Given the description of an element on the screen output the (x, y) to click on. 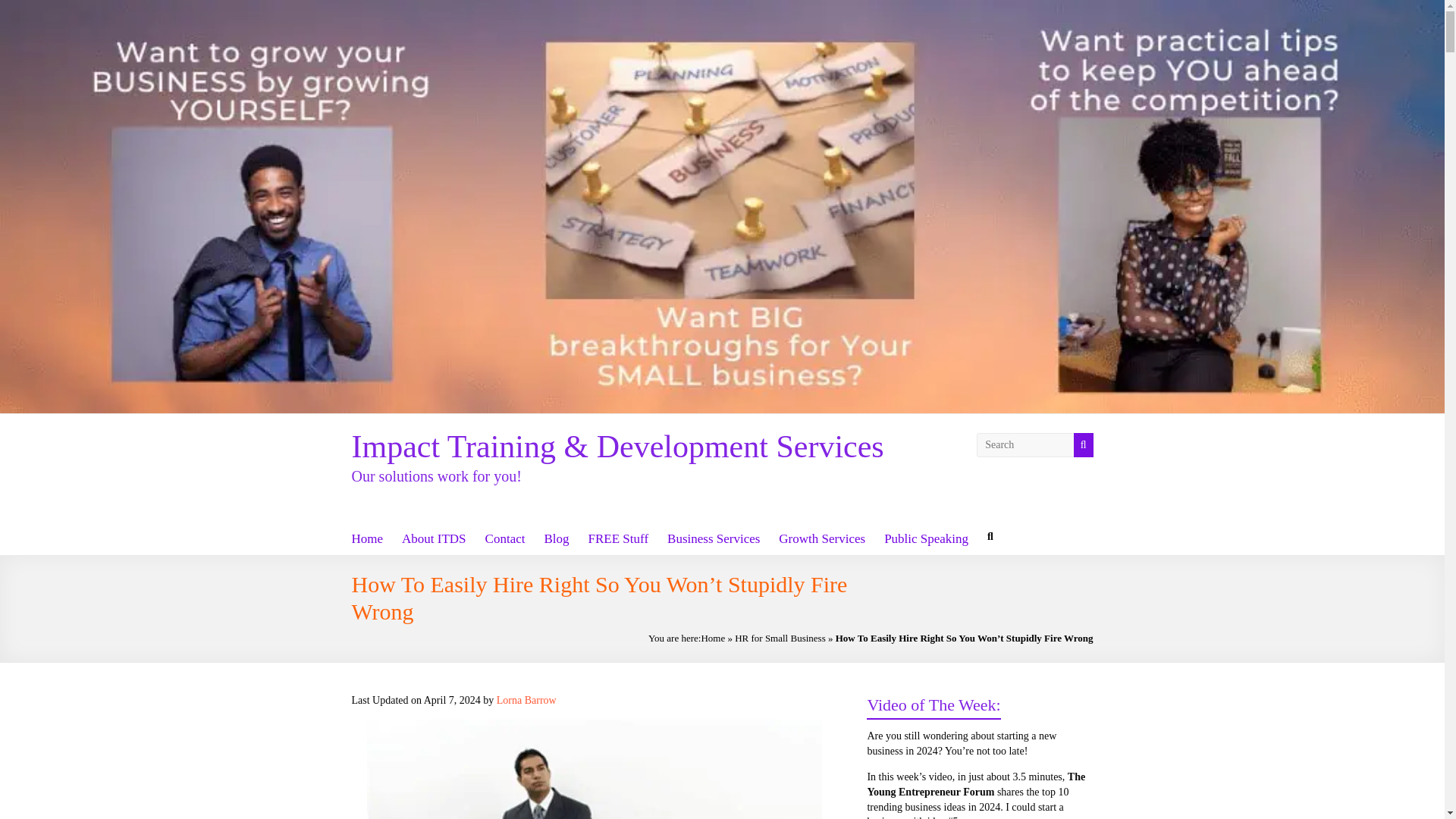
Business Services (713, 539)
About ITDS (433, 539)
Home (368, 539)
FREE Stuff (618, 539)
Lorna Barrow (526, 699)
Home (712, 637)
Growth Services (821, 539)
Contact (504, 539)
Public Speaking (925, 539)
HR for Small Business (780, 637)
Blog (556, 539)
